Given the description of an element on the screen output the (x, y) to click on. 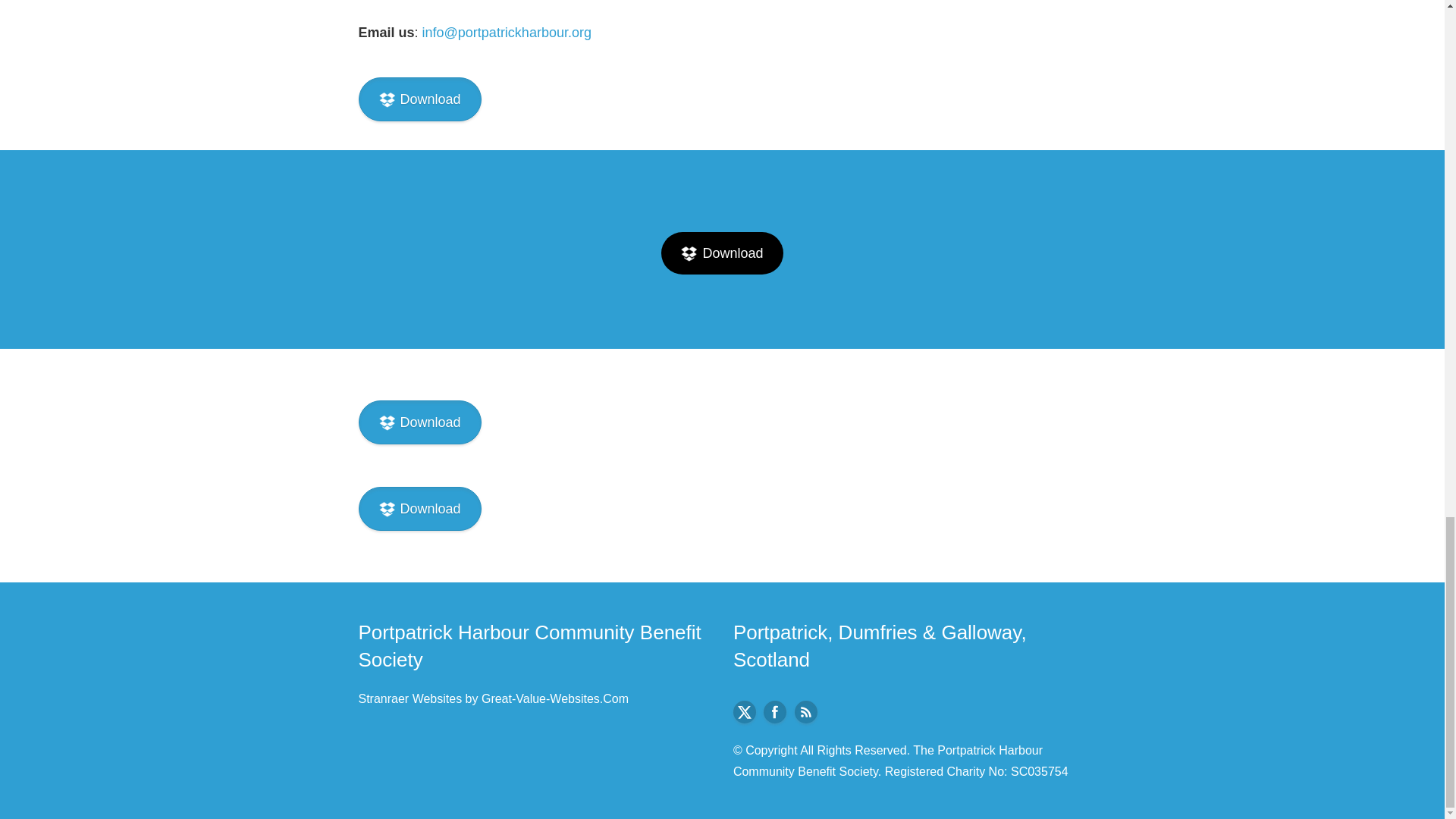
Stranraer Websites by Great-Value-Websites.Com (493, 698)
Rss (805, 712)
Twitter (744, 712)
Download (722, 252)
Download (419, 98)
Facebook (774, 712)
Download (419, 422)
Download (419, 508)
